Given the description of an element on the screen output the (x, y) to click on. 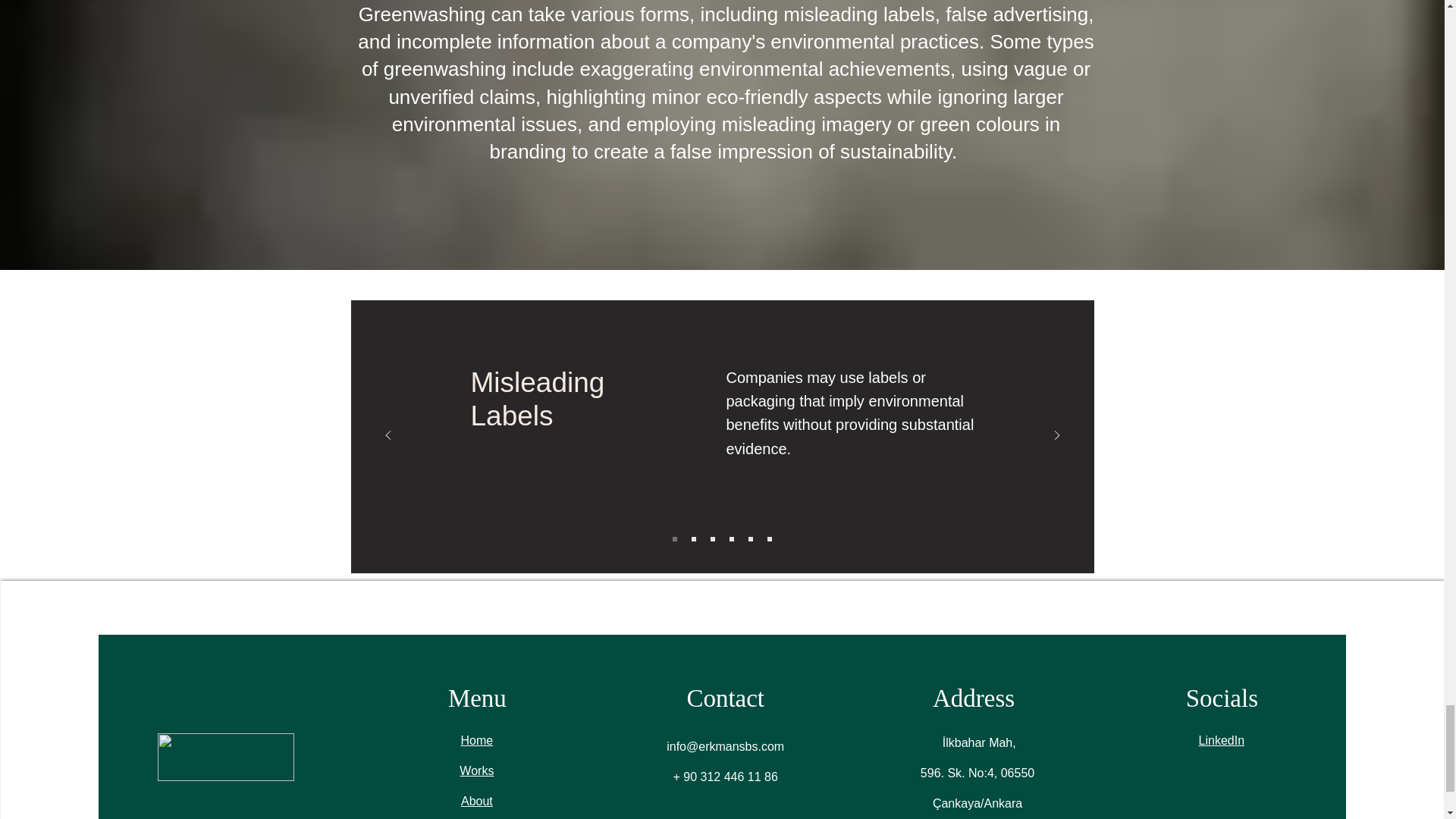
About (477, 800)
Works (476, 770)
LinkedIn (1221, 739)
Home (477, 739)
